Given the description of an element on the screen output the (x, y) to click on. 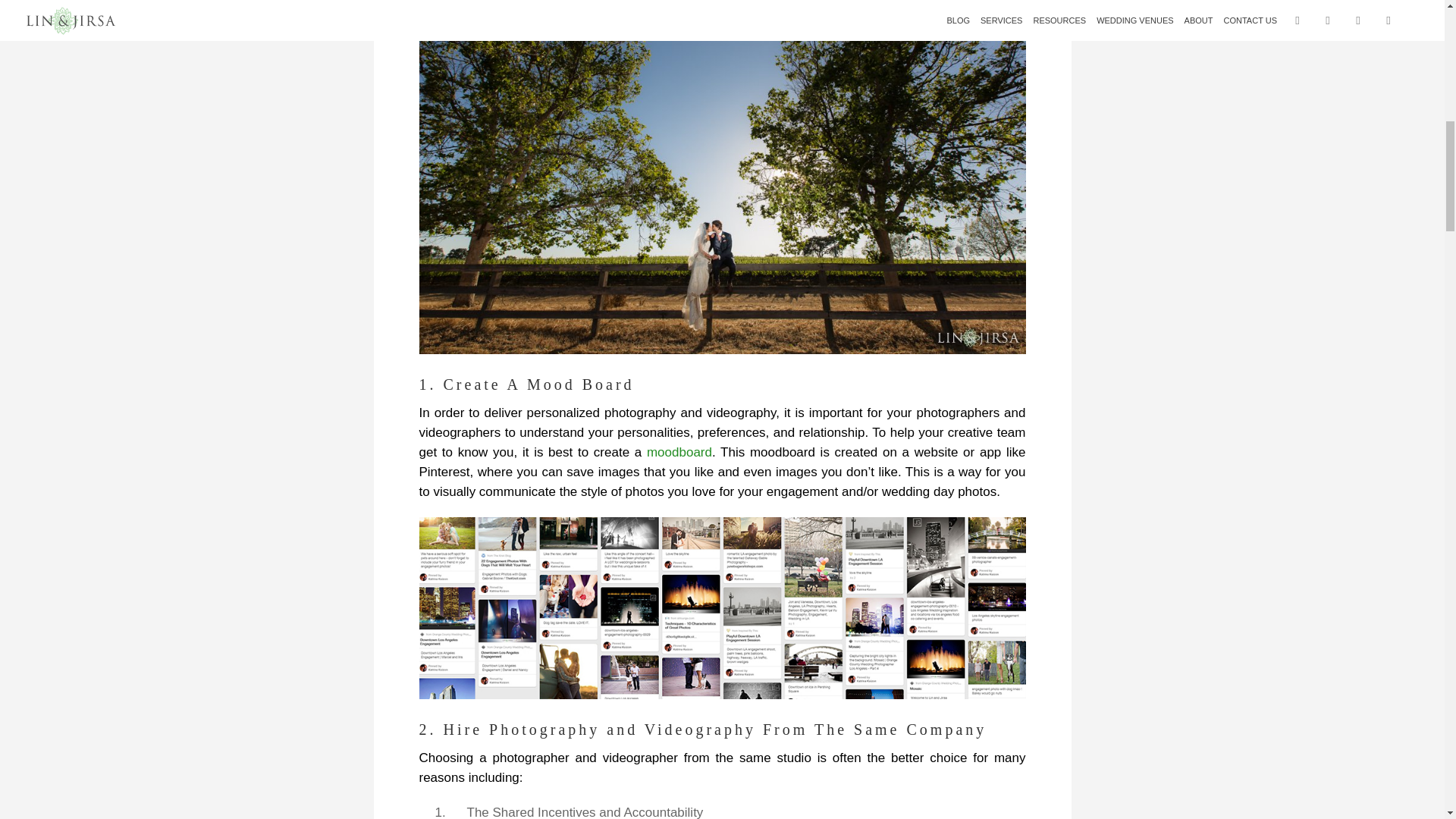
moodboard (678, 452)
